Given the description of an element on the screen output the (x, y) to click on. 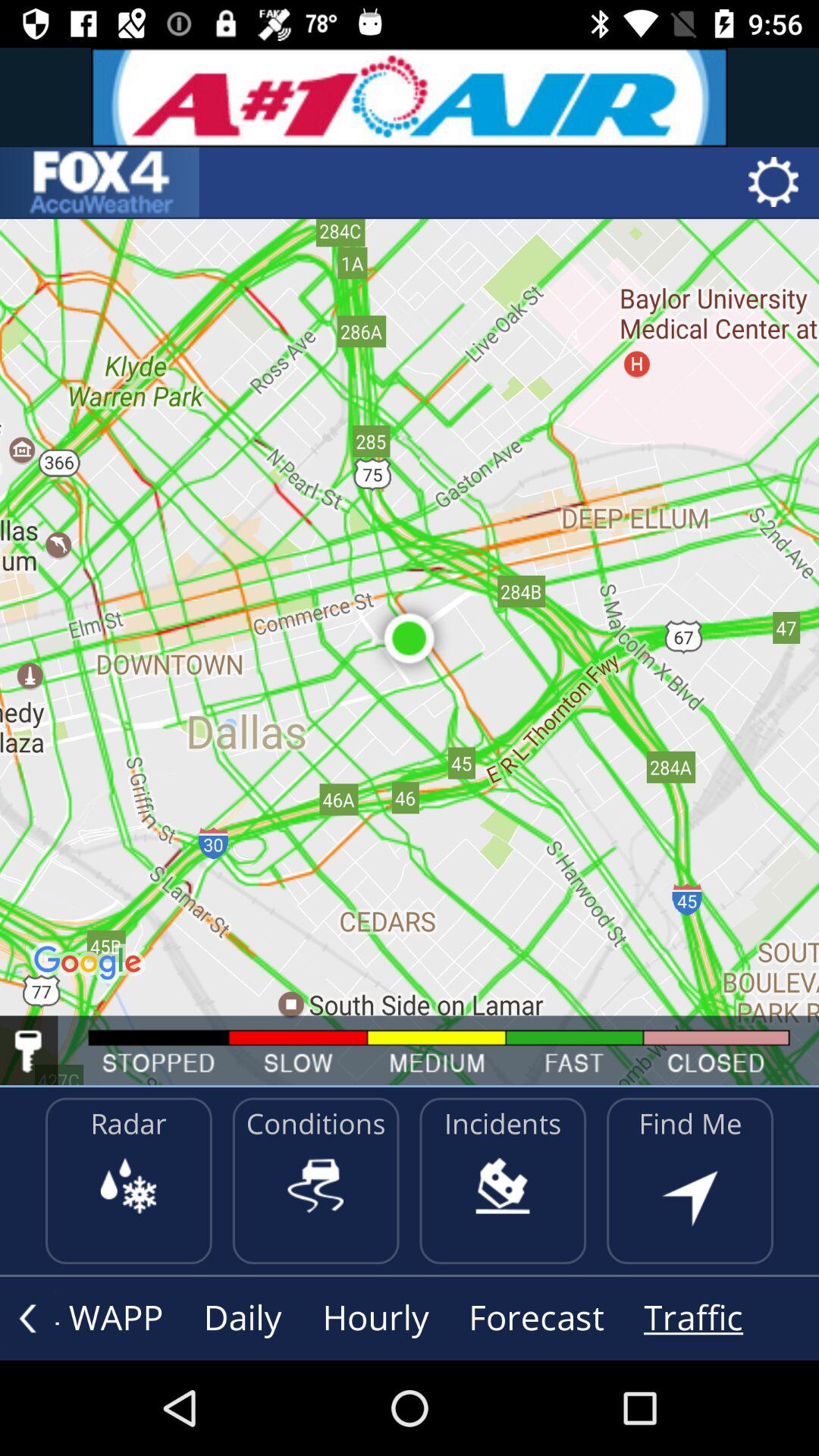
click on advertisement (409, 97)
